Given the description of an element on the screen output the (x, y) to click on. 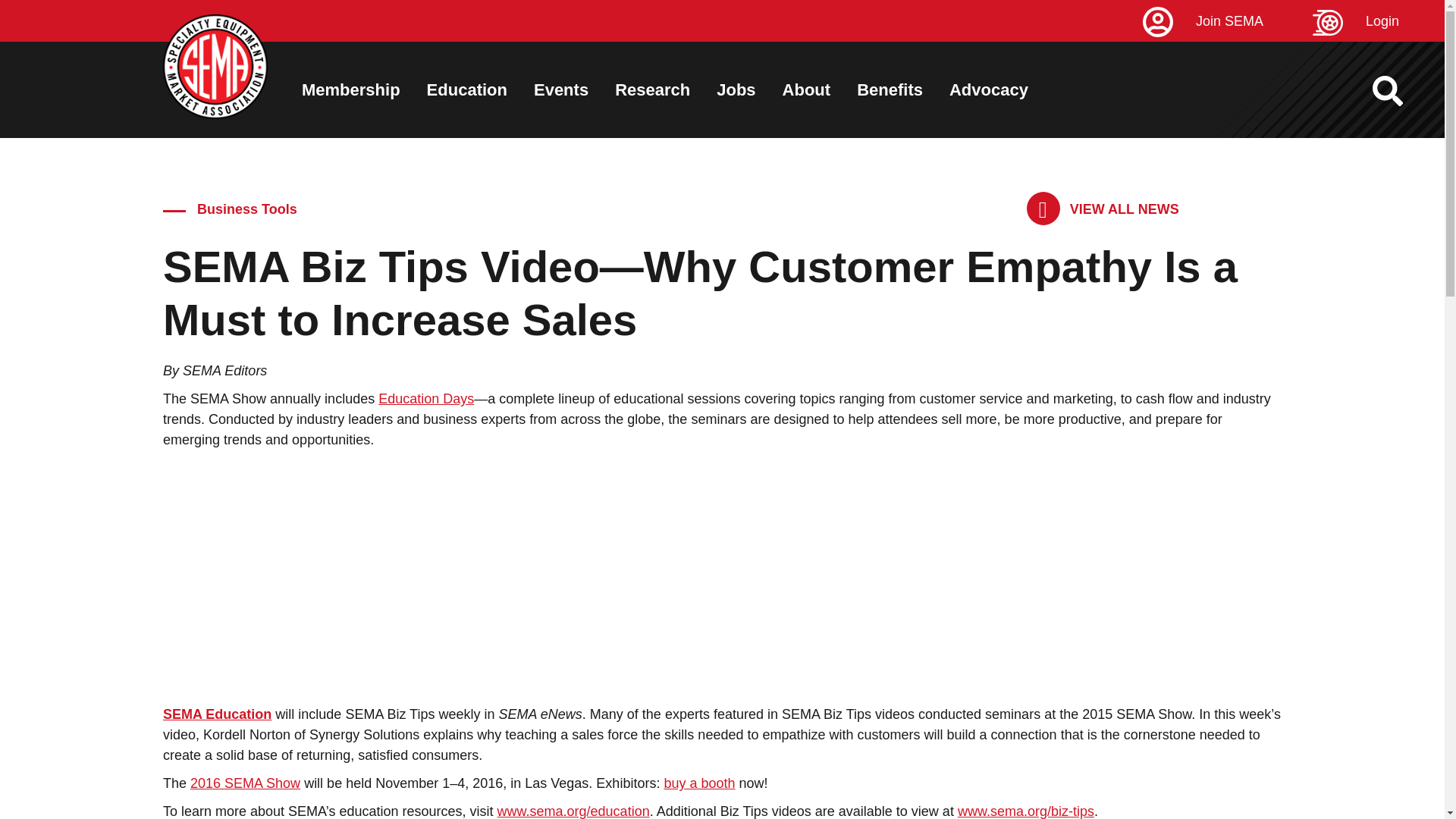
Benefits (889, 89)
Education (466, 89)
Login (1378, 20)
VIEW ALL NEWS (1102, 209)
Research (652, 89)
Advocacy (988, 89)
Membership (350, 89)
2016 SEMA Show (244, 783)
buy a booth (699, 783)
SEMA Education (216, 713)
Education Days (426, 398)
Search Sema.org (1401, 91)
Join SEMA (1225, 20)
eNews archive (1102, 209)
